Given the description of an element on the screen output the (x, y) to click on. 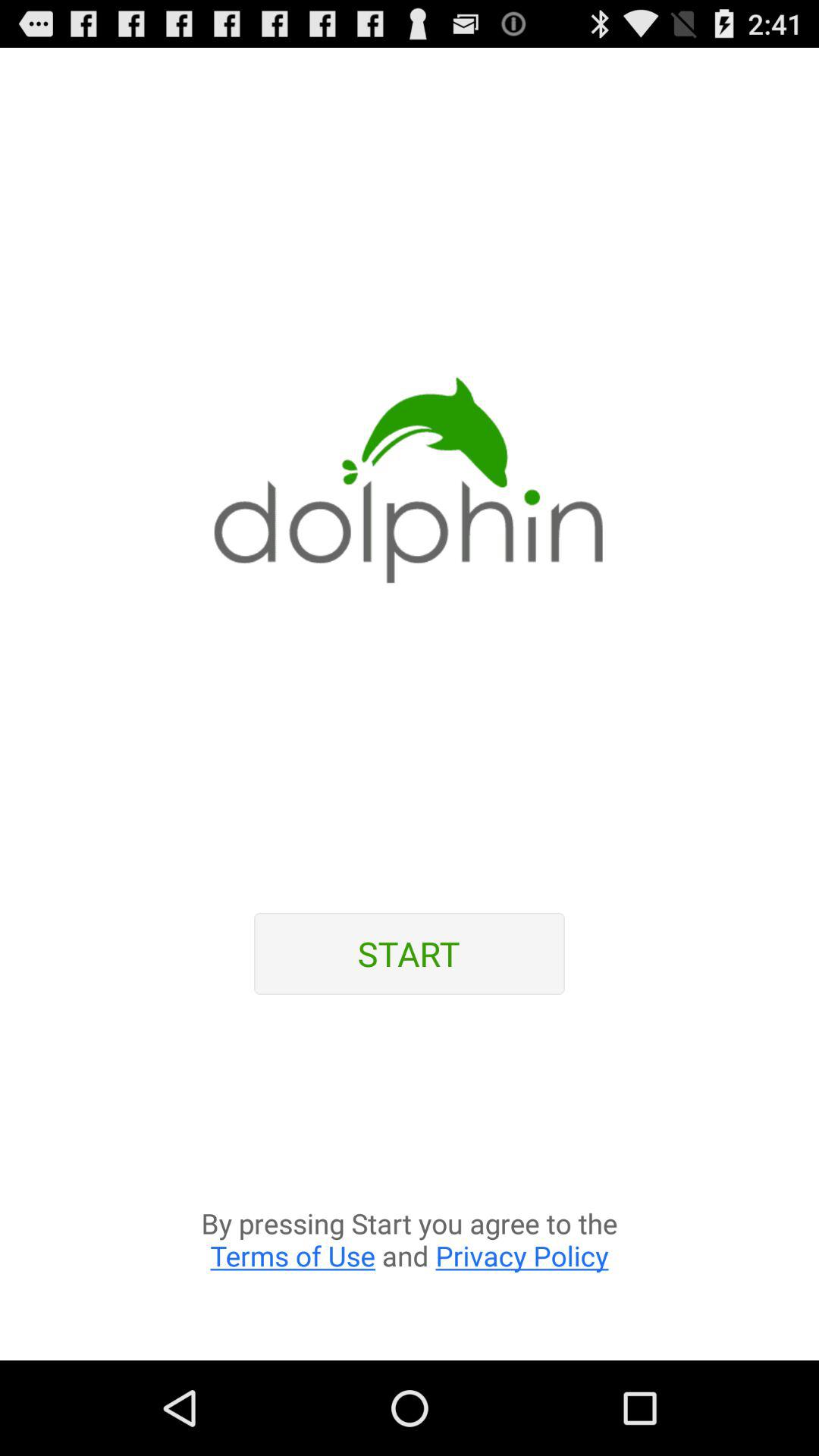
choose icon below the start icon (409, 1186)
